Given the description of an element on the screen output the (x, y) to click on. 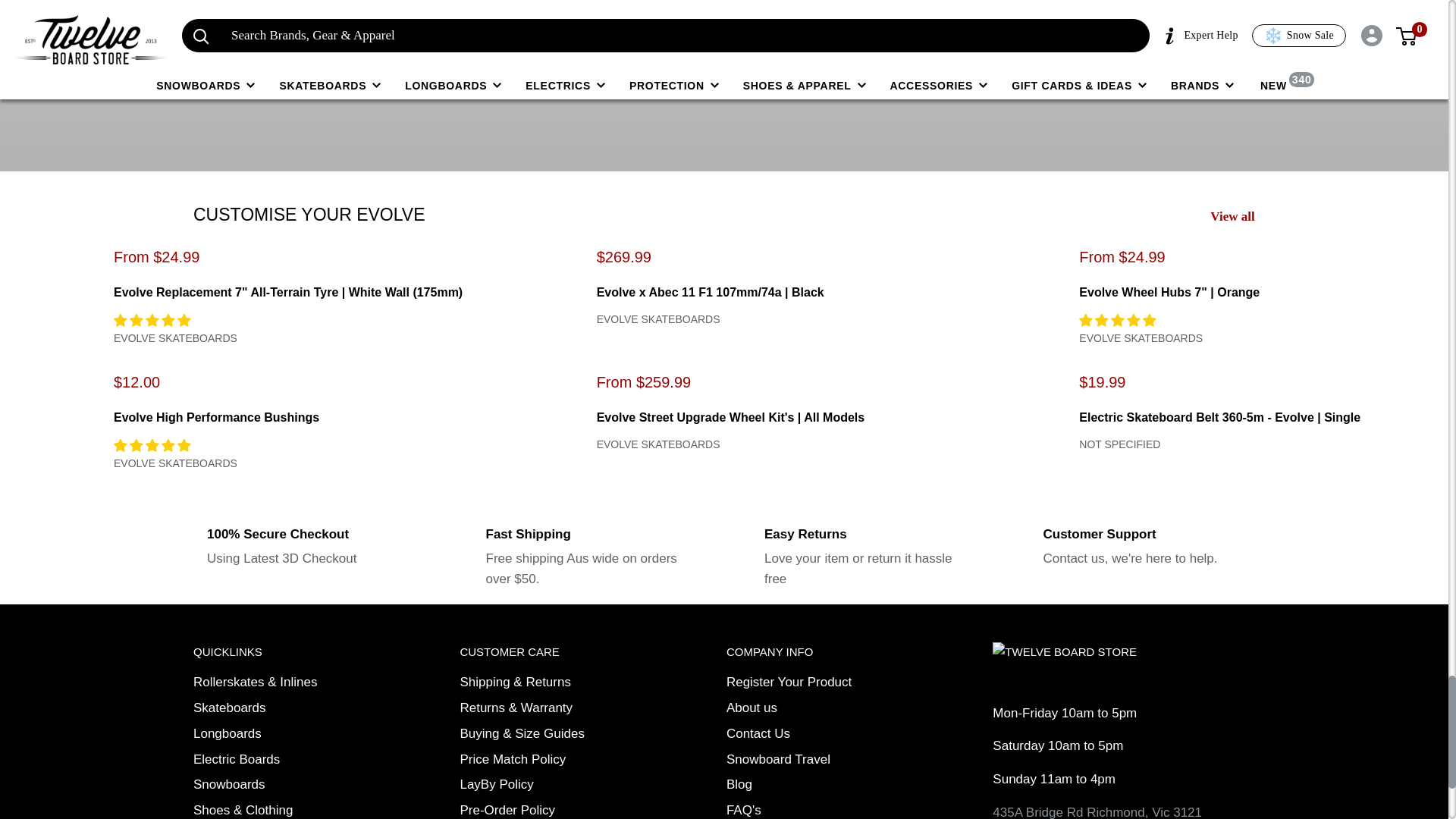
Price Match Policy (546, 759)
Electric Boards (280, 759)
Longboards (280, 733)
Pre-Order Policy (546, 808)
Snowboards (280, 784)
Skateboards (280, 708)
LayBy Policy (546, 784)
